Given the description of an element on the screen output the (x, y) to click on. 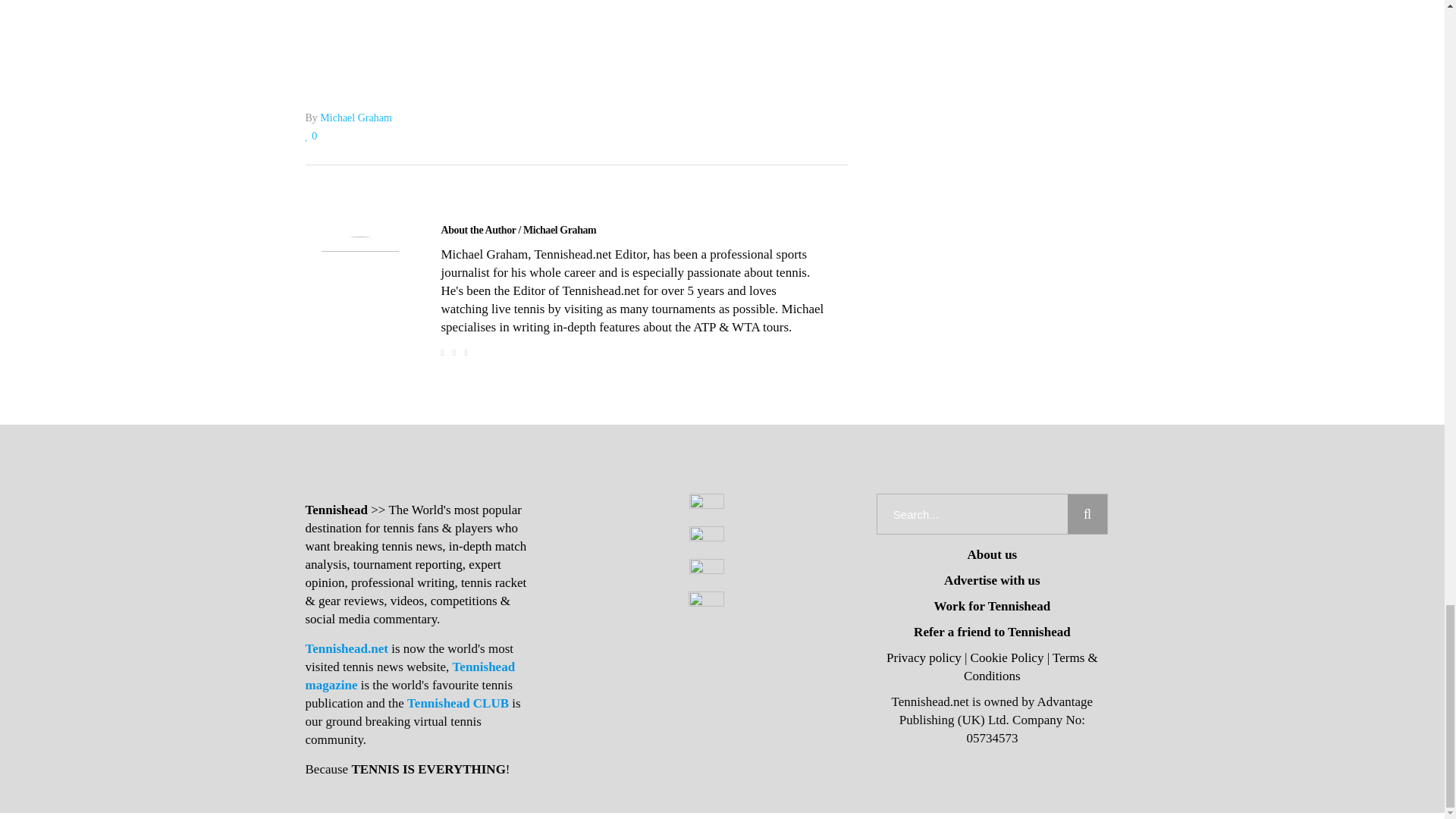
Like this (310, 135)
TNNS Live Scores (576, 22)
Search for: (972, 513)
